Given the description of an element on the screen output the (x, y) to click on. 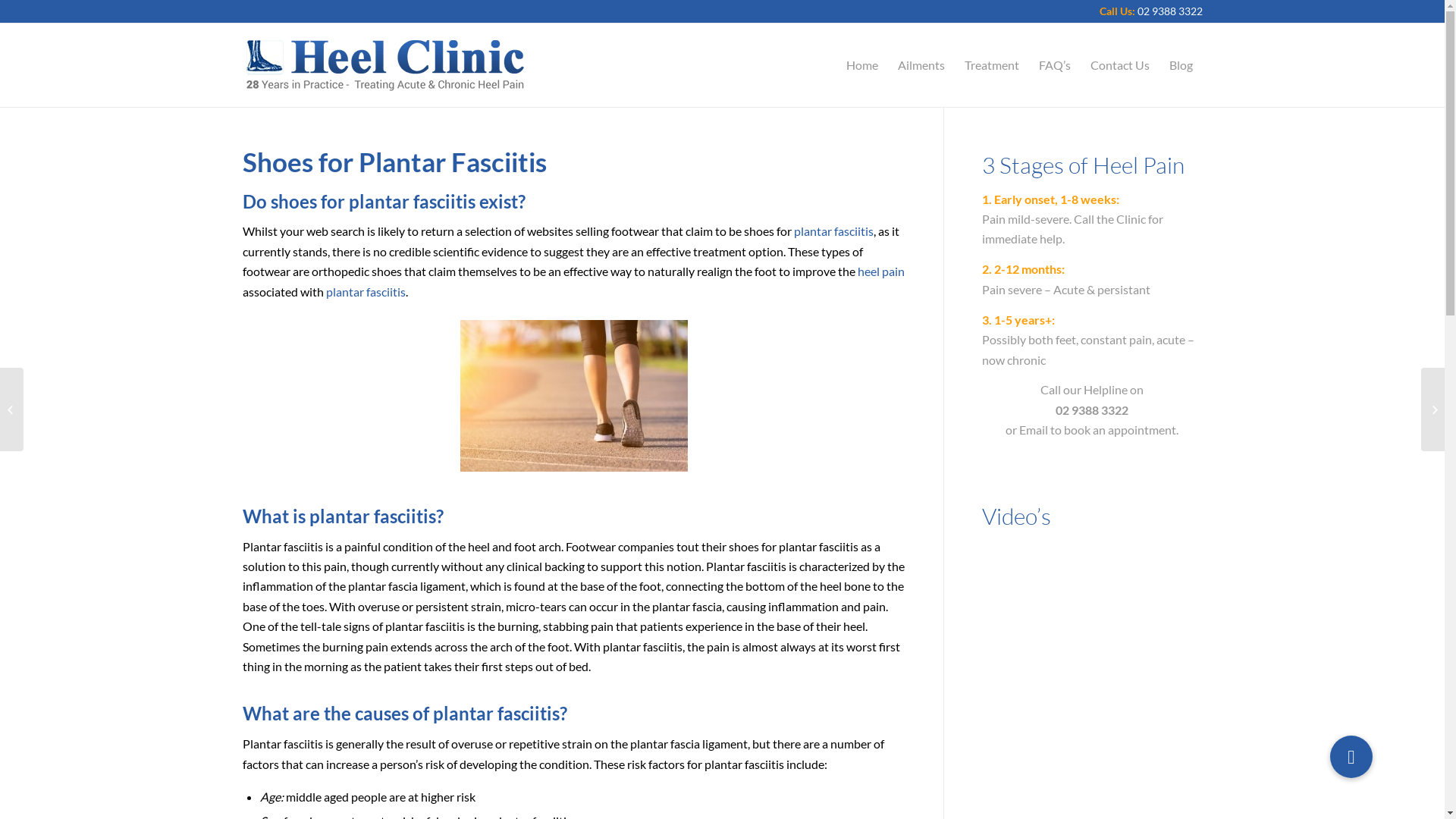
02 9388 3322 Element type: text (1169, 10)
plantar fasciitis Element type: text (365, 291)
Shoes for Plantar Fasciitis Element type: text (394, 161)
Ailments Element type: text (920, 64)
Contact Us Element type: text (1118, 64)
Blog Element type: text (1179, 64)
02 9388 3322 Element type: text (1091, 409)
Email Element type: text (1033, 429)
Home Element type: text (861, 64)
plantar fasciitis Element type: text (832, 230)
heel pain Element type: text (879, 270)
Treatment Element type: text (990, 64)
